Given the description of an element on the screen output the (x, y) to click on. 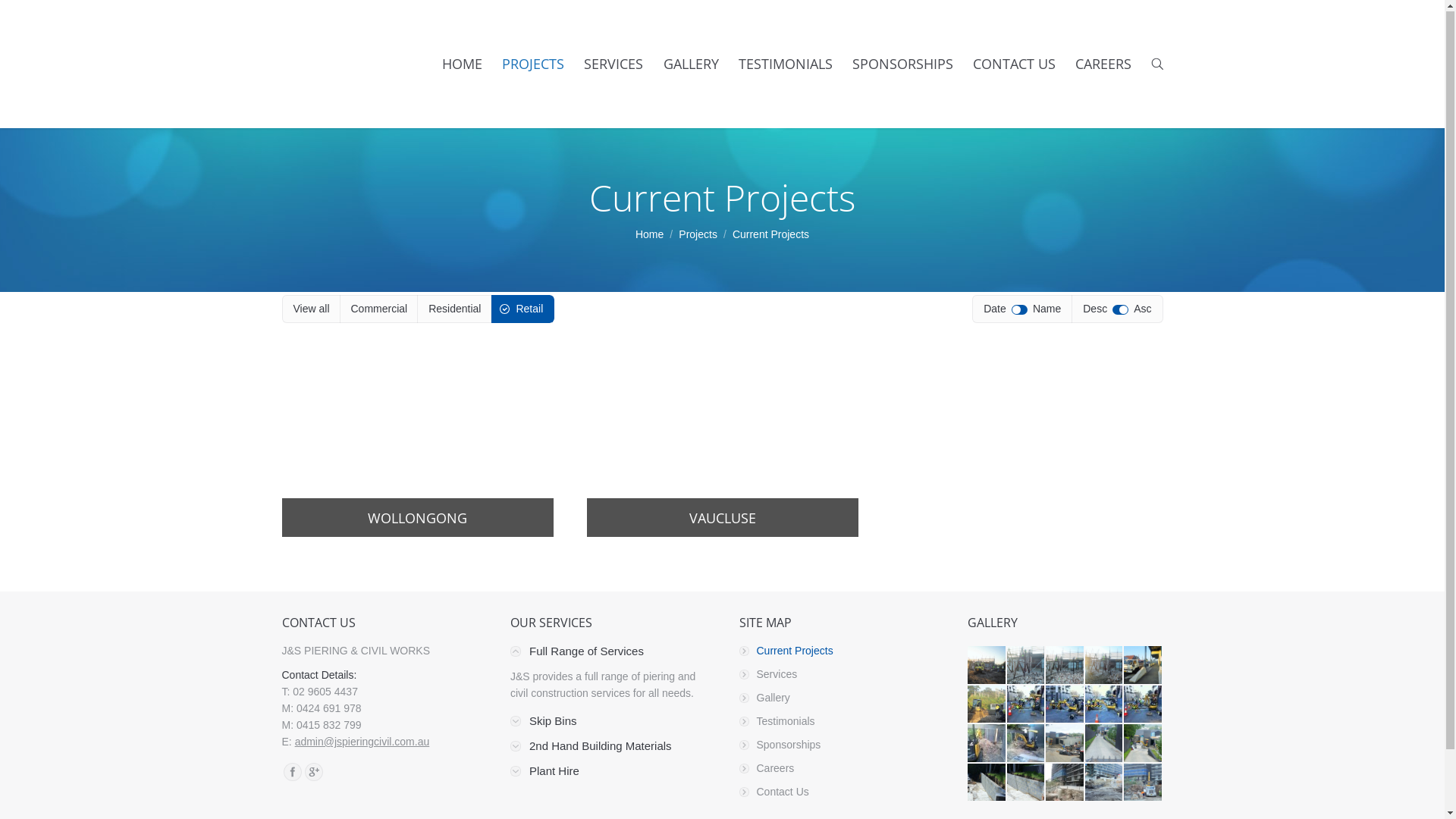
Contact Us Element type: text (836, 792)
SERVICES Element type: text (613, 65)
Full Range of Services Element type: text (576, 652)
Current Projects Element type: text (836, 651)
PROJECTS Element type: text (532, 65)
TESTIMONIALS Element type: text (785, 65)
Careers Element type: text (836, 768)
HOME Element type: text (462, 65)
Projects Element type: text (697, 235)
CAREERS Element type: text (1103, 65)
admin@jspieringcivil.com.au Element type: text (361, 742)
SPONSORSHIPS Element type: text (902, 65)
Gallery Element type: text (836, 698)
CONTACT US Element type: text (1014, 65)
GALLERY Element type: text (690, 65)
2nd Hand Building Materials Element type: text (590, 746)
Asc Element type: text (1142, 309)
Google+ Element type: hover (313, 772)
Plant Hire Element type: text (544, 771)
Sponsorships Element type: text (836, 745)
Skip Bins Element type: text (543, 721)
Facebook Element type: hover (292, 772)
Residential Element type: text (454, 309)
Home Element type: text (649, 235)
Go! Element type: text (15, 14)
Name Element type: text (1046, 309)
Services Element type: text (836, 674)
  Element type: text (1157, 64)
Desc Element type: text (1094, 309)
Date Element type: text (994, 309)
Retail Element type: text (522, 309)
Testimonials Element type: text (836, 721)
View all Element type: text (311, 309)
Commercial Element type: text (379, 309)
